Given the description of an element on the screen output the (x, y) to click on. 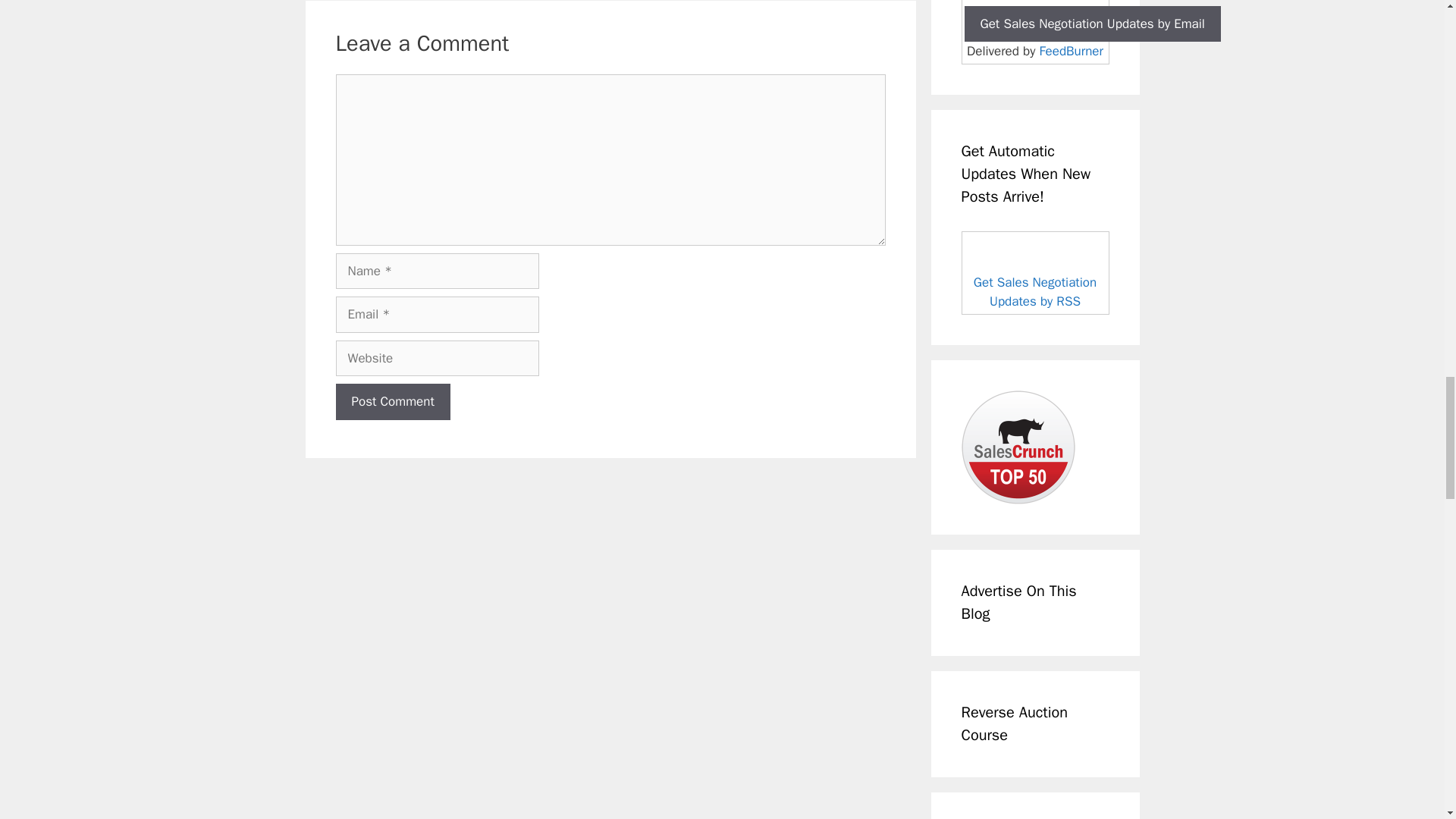
Post Comment (391, 402)
The Accidental Negotiator Makes SalesCrunch's Top 50 List! (1017, 447)
Post Comment (391, 402)
Subscribe to my feed (1034, 272)
Get Sales Negotiation Updates by RSS (1035, 292)
Get Sales Negotiation Updates by Email (1092, 23)
